Given the description of an element on the screen output the (x, y) to click on. 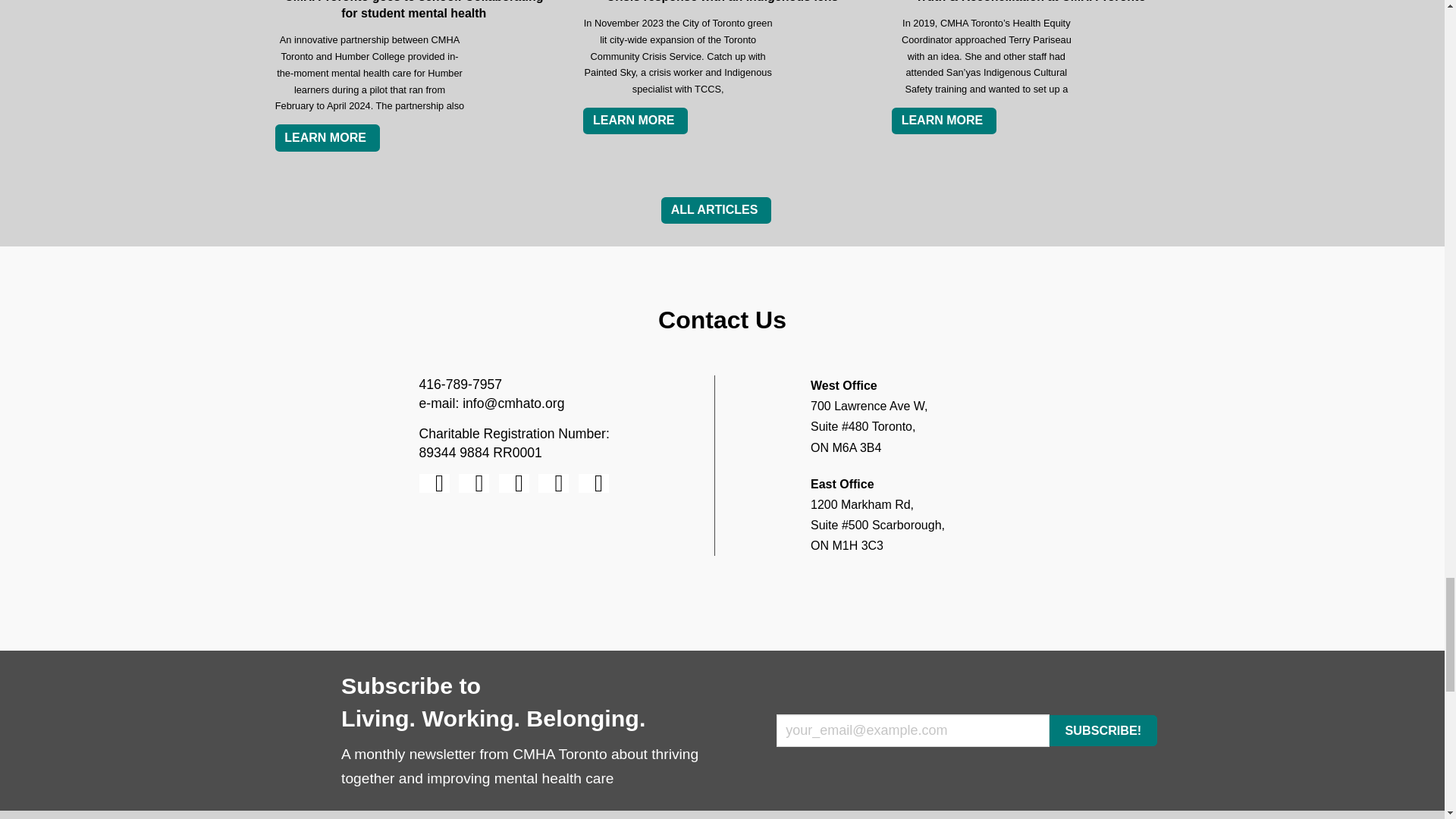
LEARN MORE (326, 137)
Subscribe! (1103, 730)
